Given the description of an element on the screen output the (x, y) to click on. 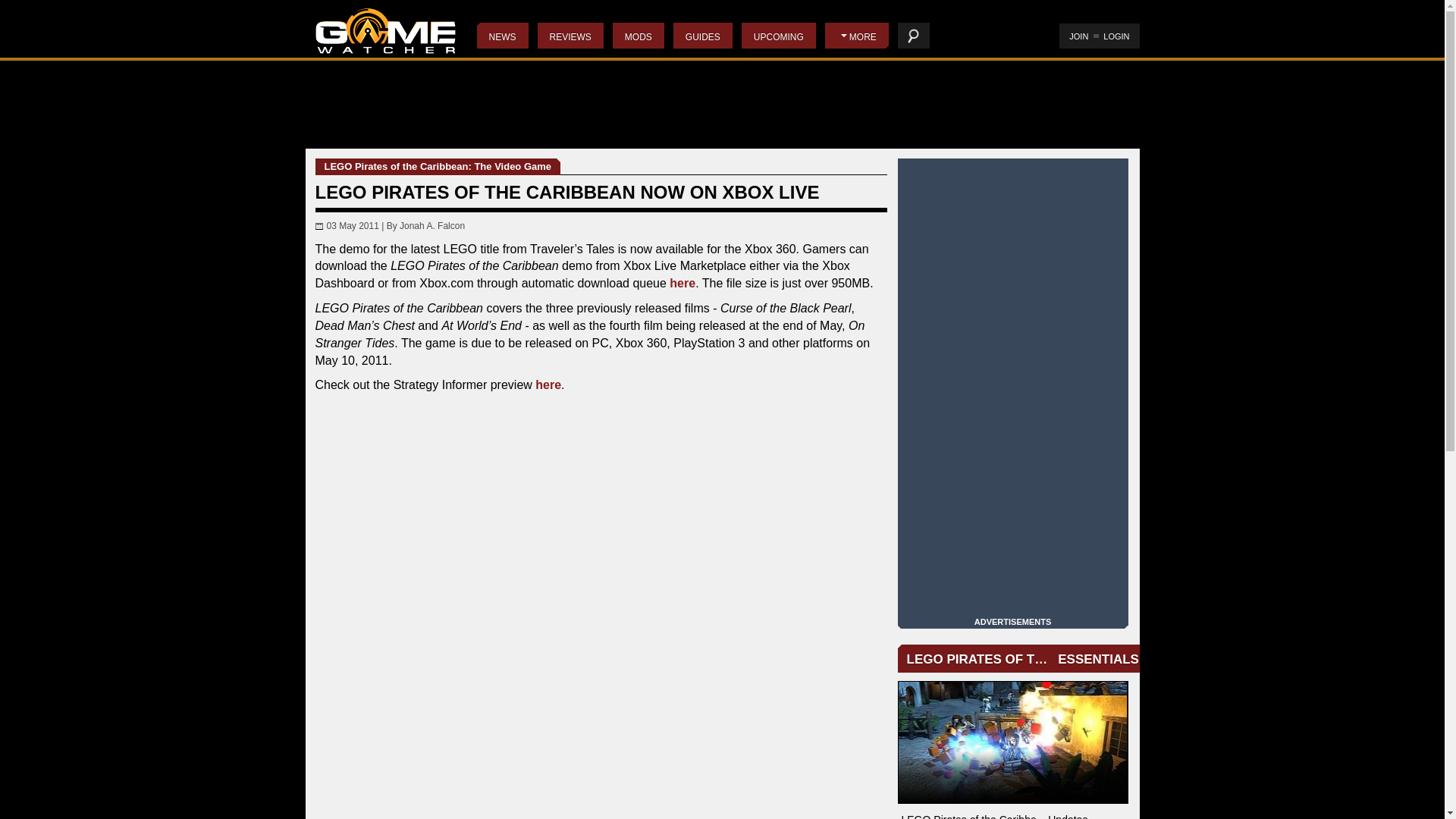
LEGO Pirates of the Caribbean: The Video Game (437, 166)
Jonah A. Falcon (431, 225)
REVIEWS (569, 35)
here (682, 282)
LOGIN (1116, 36)
JOIN (1078, 36)
MORE (856, 35)
here (547, 384)
UPCOMING (778, 35)
MODS (637, 35)
GUIDES (702, 35)
NEWS (501, 35)
LEGO Pirates of the Caribbean: The Video Game (1013, 741)
